Given the description of an element on the screen output the (x, y) to click on. 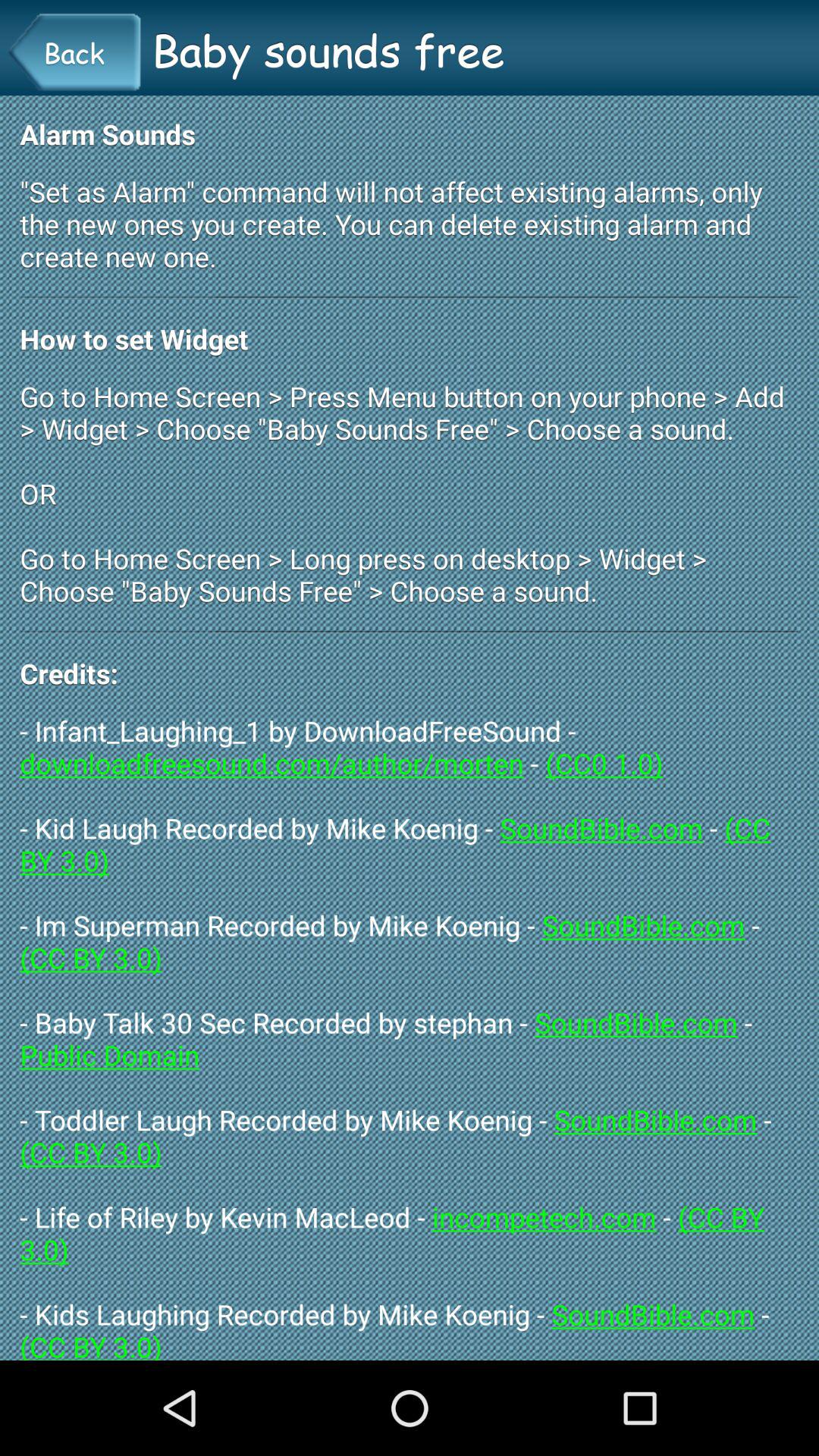
turn off item above the alarm sounds item (73, 52)
